Given the description of an element on the screen output the (x, y) to click on. 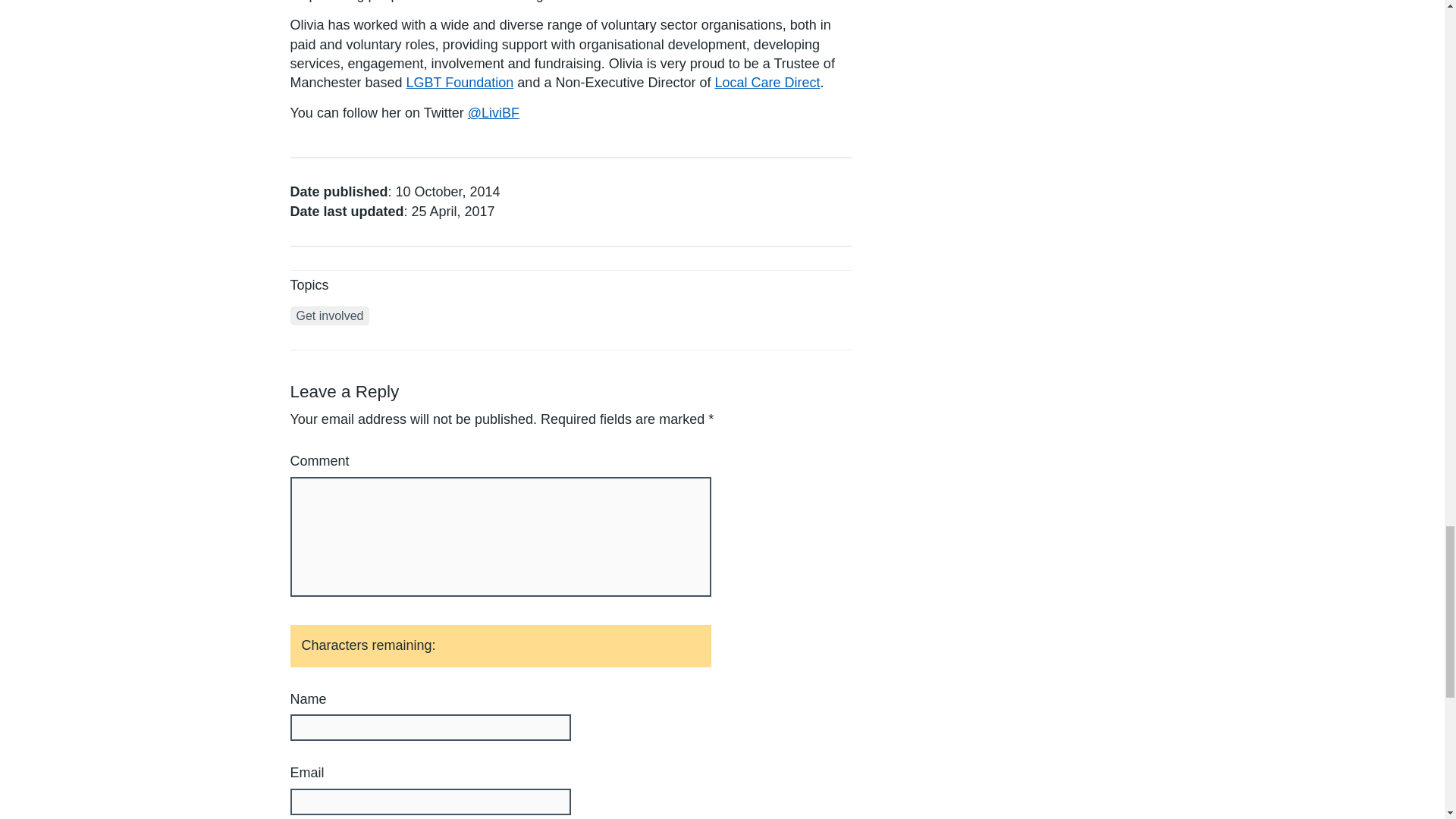
Get involved (329, 315)
LGBT Foundation (459, 82)
Local Care Direct (766, 82)
